Given the description of an element on the screen output the (x, y) to click on. 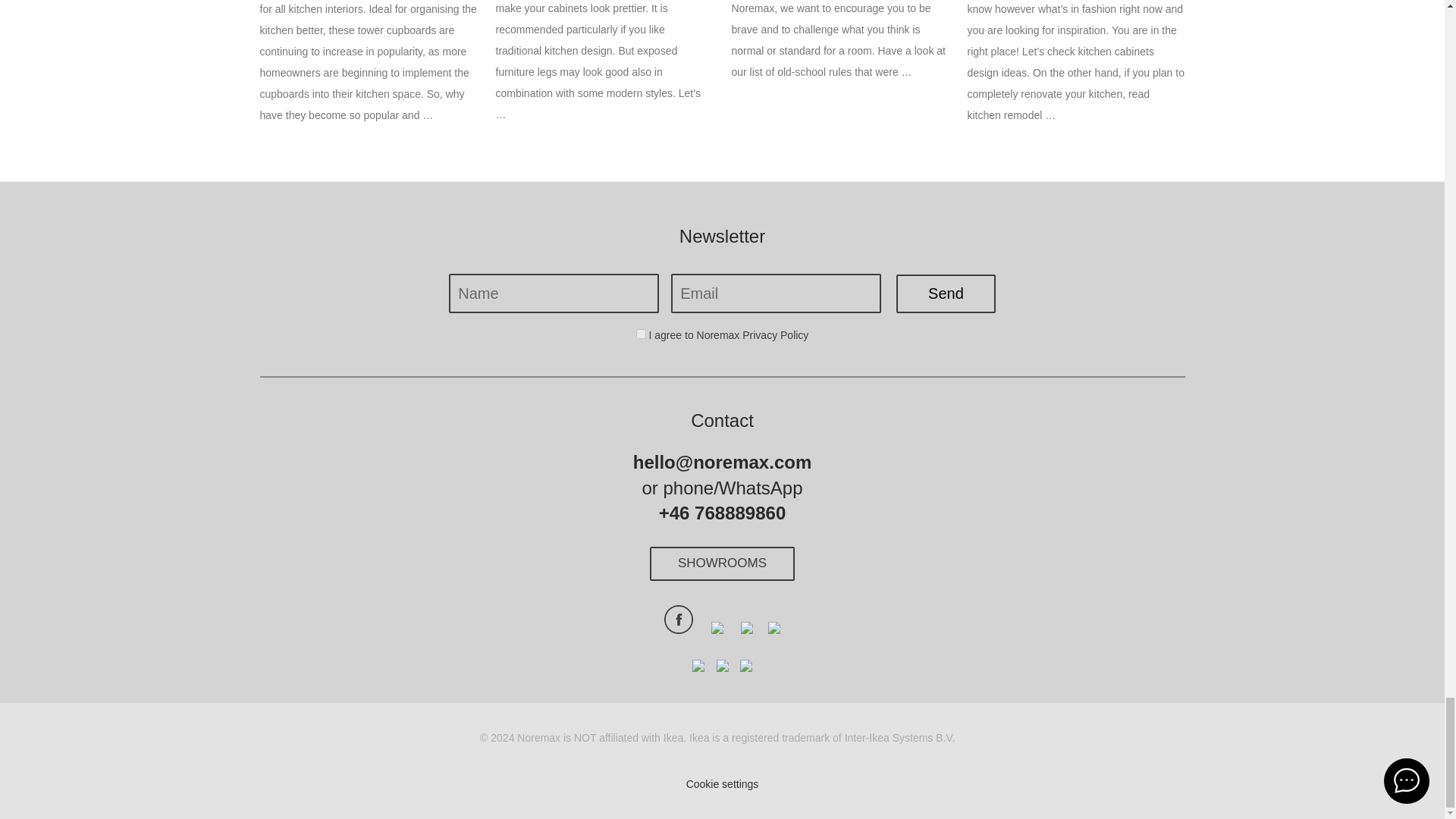
1 (641, 334)
Send (945, 293)
